Given the description of an element on the screen output the (x, y) to click on. 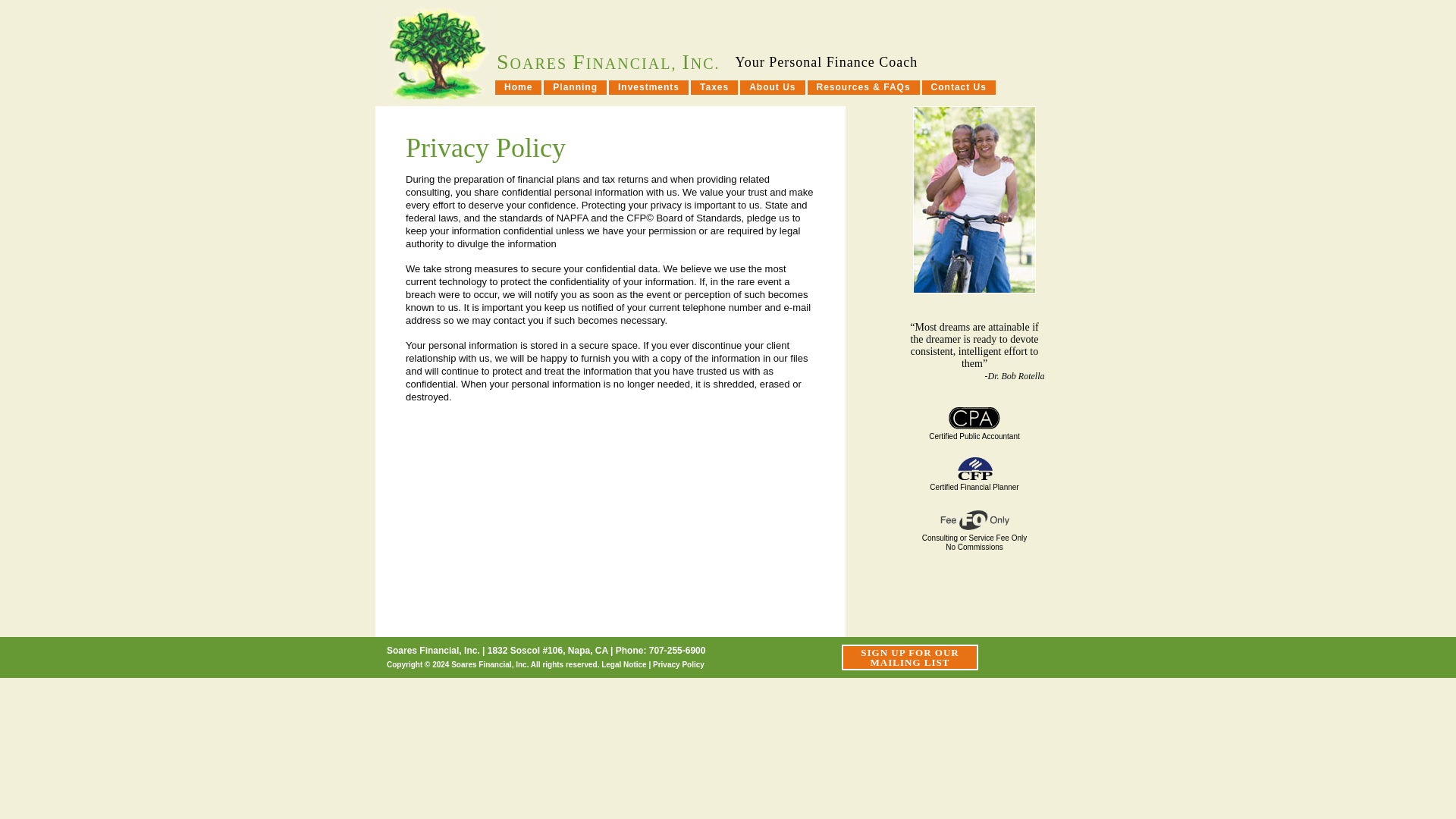
Privacy Policy (678, 664)
Contact Us (958, 87)
Certified Financial Planner (973, 477)
Taxes (714, 87)
SIGN UP FOR OUR MAILING LIST (909, 657)
Legal Notice (973, 533)
About Us (623, 664)
Certified Public Accountant (772, 87)
SOARES FINANCIAL, INC. (974, 426)
Home (608, 63)
Investments (518, 87)
Planning (648, 87)
